Given the description of an element on the screen output the (x, y) to click on. 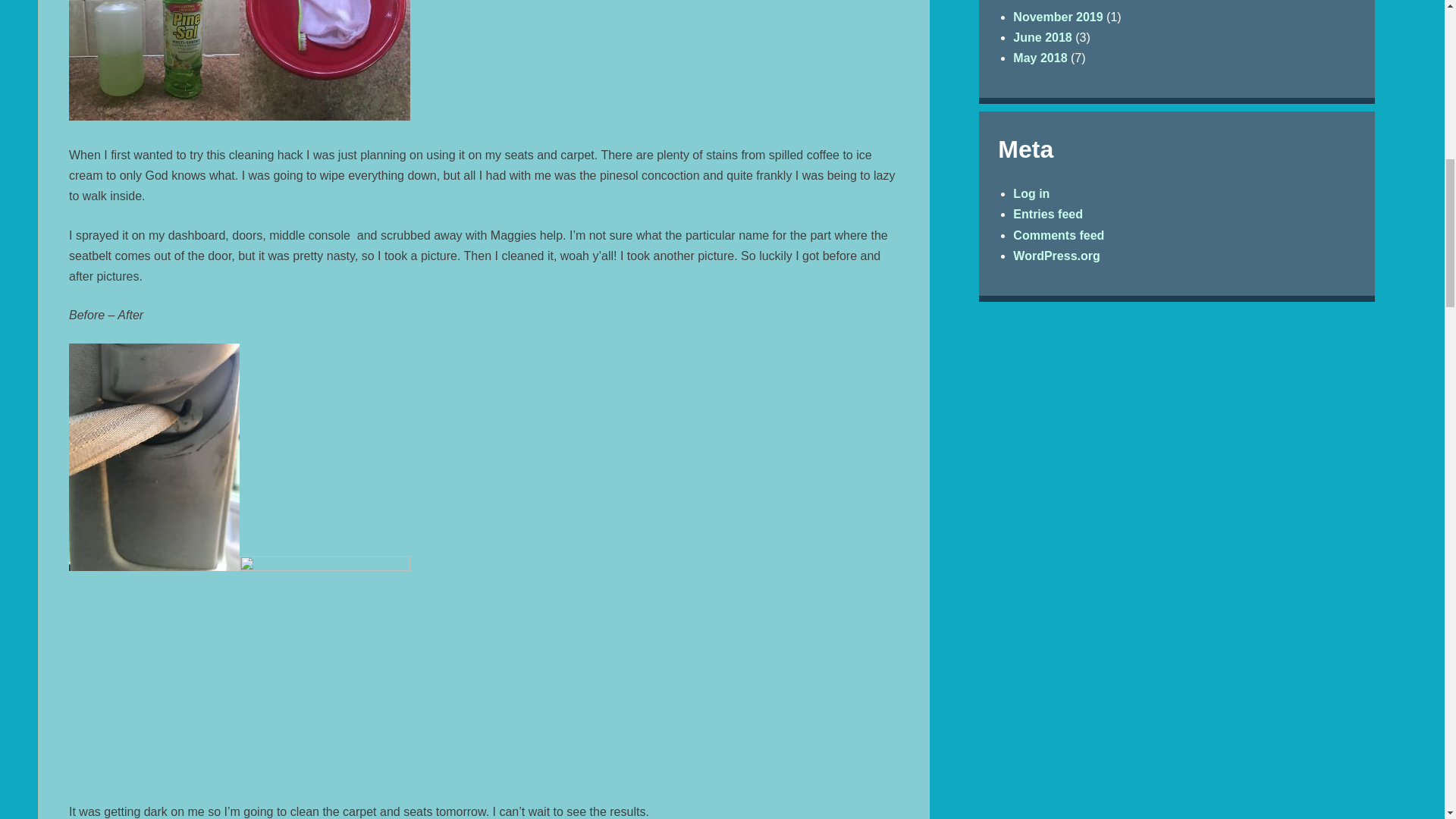
May 2018 (1040, 57)
November 2019 (1057, 16)
Entries feed (1048, 214)
June 2018 (1042, 37)
WordPress.org (1056, 255)
Log in (1031, 193)
Comments feed (1058, 235)
